Given the description of an element on the screen output the (x, y) to click on. 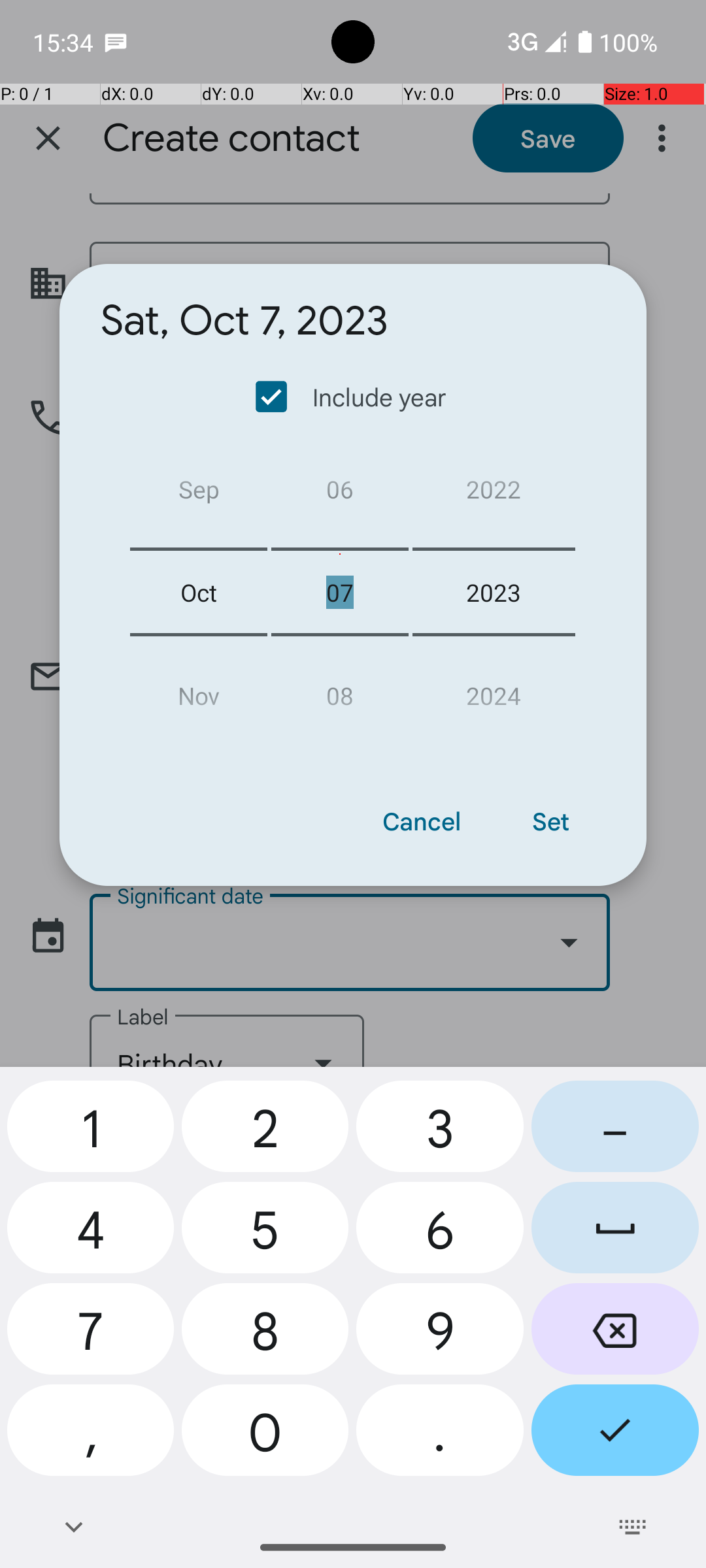
Sat, Oct 7, 2023 Element type: android.widget.TextView (244, 320)
Include year Element type: android.widget.CheckBox (351, 396)
Sep Element type: android.widget.Button (198, 493)
Oct Element type: android.widget.EditText (198, 591)
Nov Element type: android.widget.Button (198, 689)
06 Element type: android.widget.Button (339, 493)
07 Element type: android.widget.EditText (339, 591)
08 Element type: android.widget.Button (339, 689)
2022 Element type: android.widget.Button (493, 493)
2024 Element type: android.widget.Button (493, 689)
Set Element type: android.widget.Button (550, 820)
Dash Element type: android.widget.FrameLayout (614, 1130)
